Given the description of an element on the screen output the (x, y) to click on. 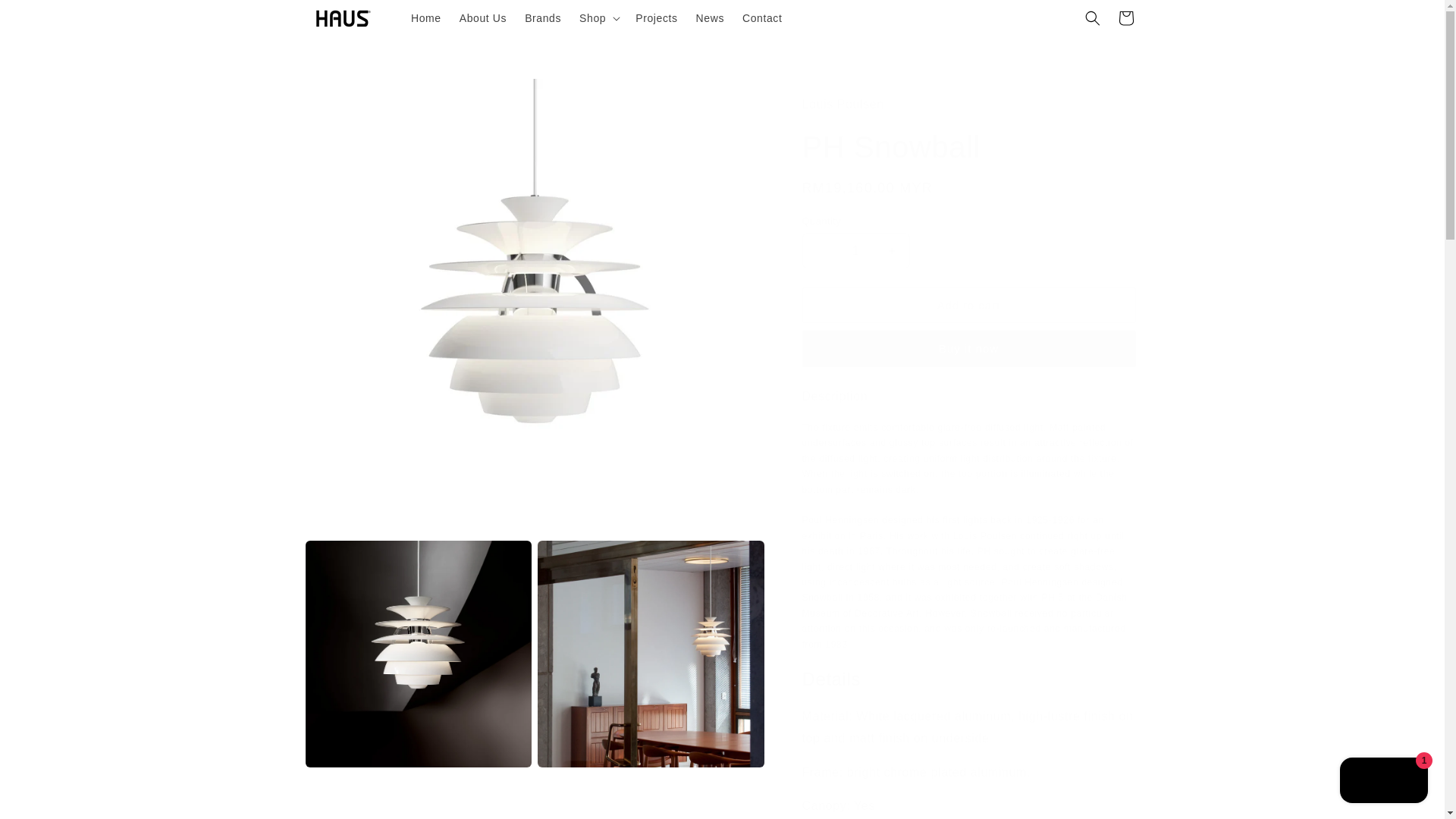
Open media 2 in modal (417, 653)
About Us (482, 18)
Home (425, 18)
Open media 3 in modal (650, 653)
Shopify online store chat (1383, 781)
Skip to content (45, 17)
Brands (542, 18)
1 (856, 250)
